Given the description of an element on the screen output the (x, y) to click on. 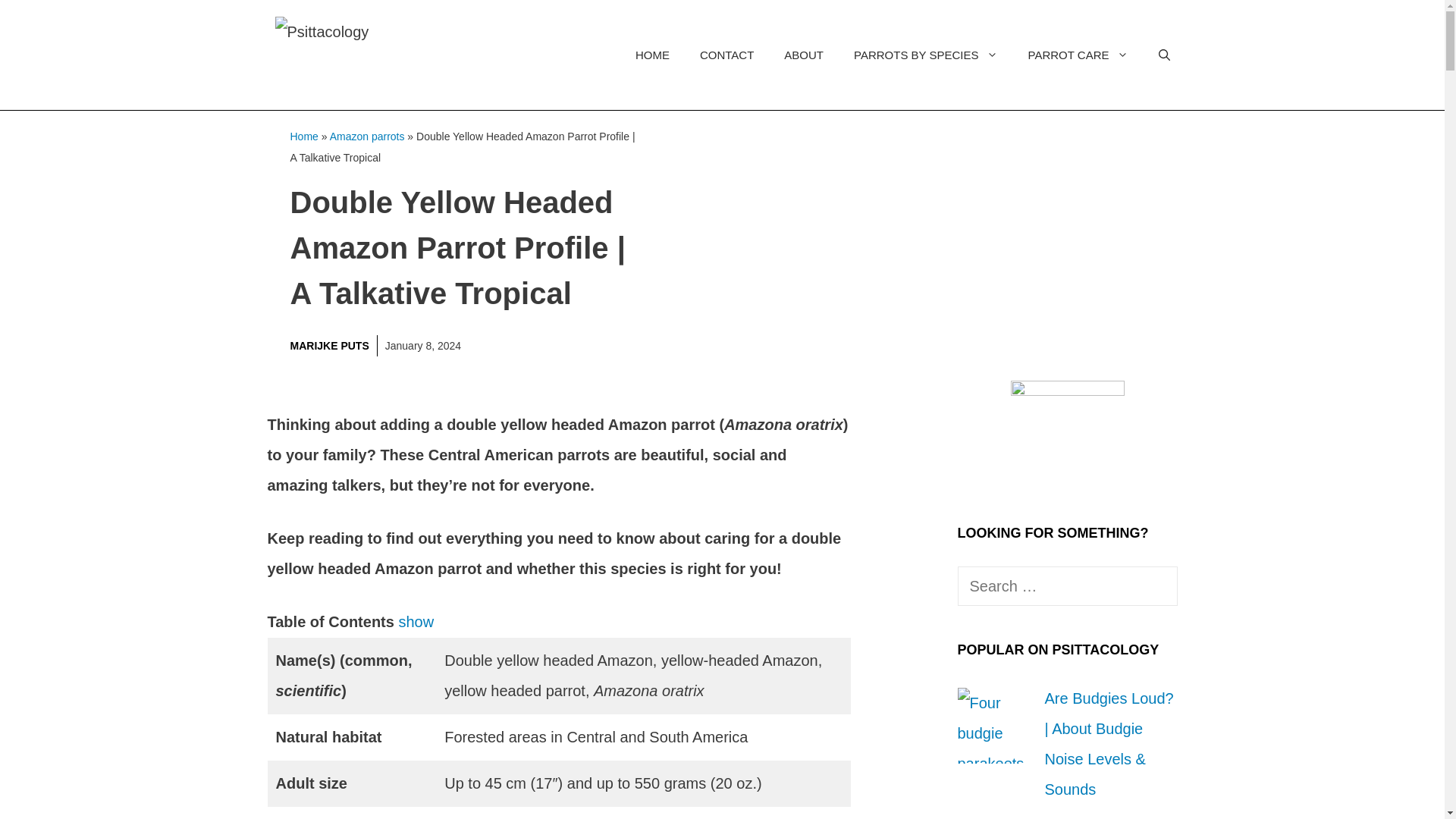
PARROTS BY SPECIES (925, 55)
Home (303, 136)
PARROT CARE (1077, 55)
CONTACT (726, 55)
Search for: (1066, 586)
show (415, 621)
Amazon parrots (367, 136)
